Given the description of an element on the screen output the (x, y) to click on. 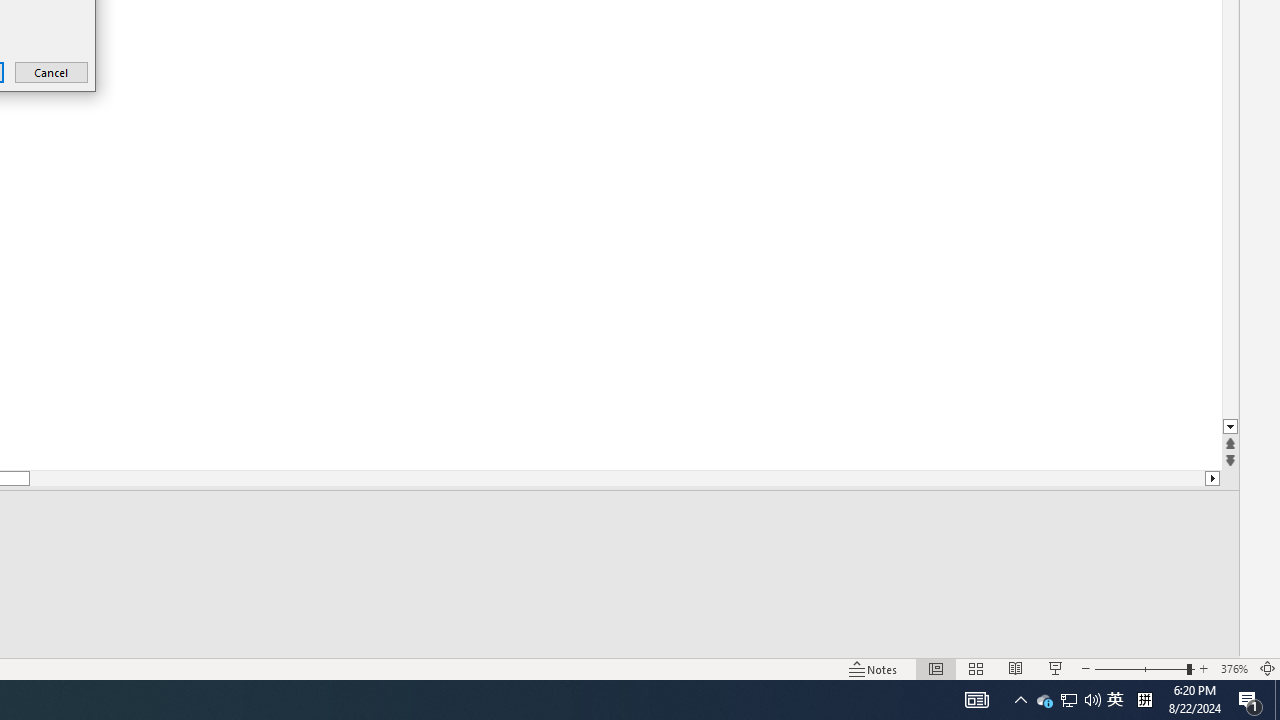
Zoom 376% (1234, 668)
